Given the description of an element on the screen output the (x, y) to click on. 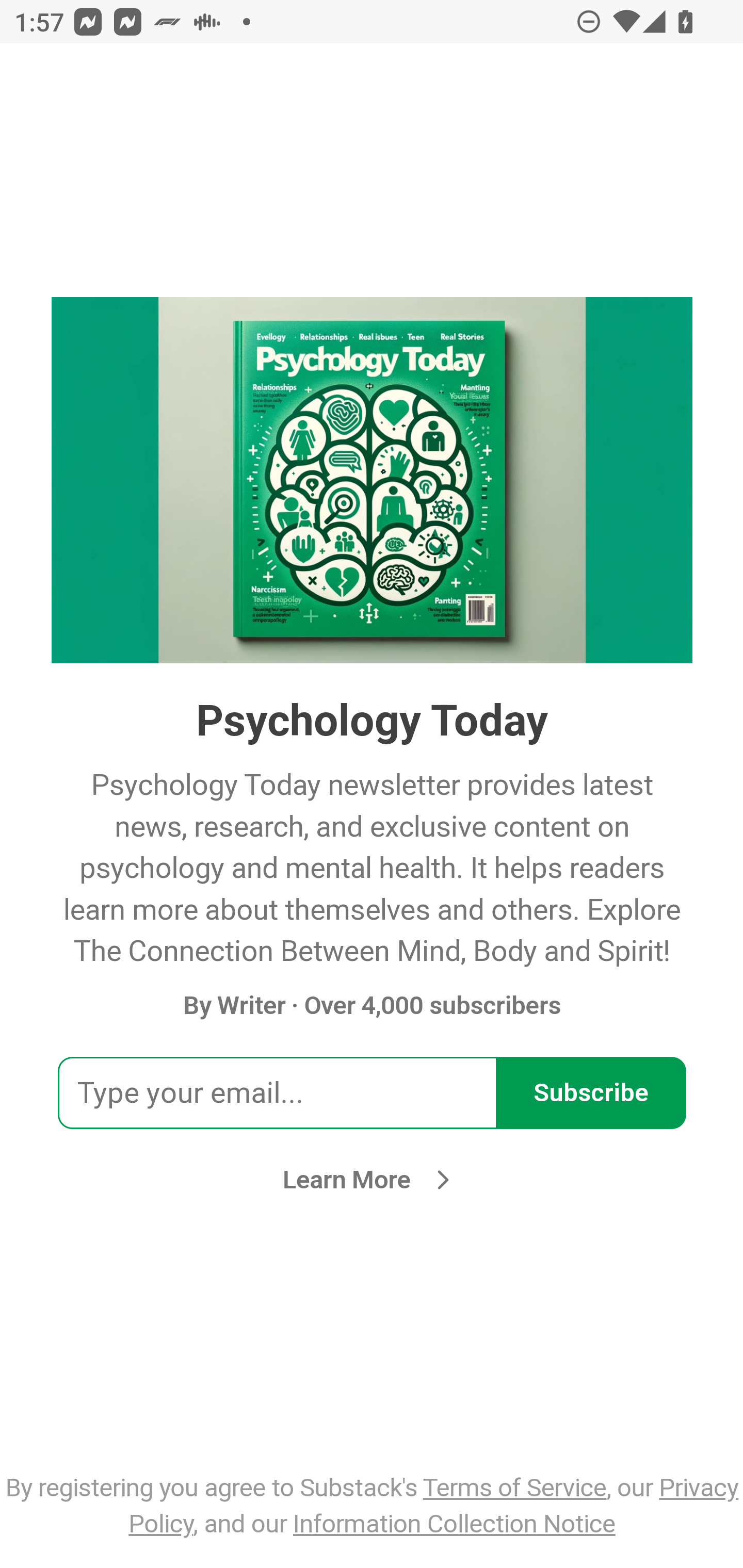
Subscribe (591, 1092)
Learn More (371, 1179)
Privacy Policy (433, 1504)
Terms of Service (514, 1486)
Information Collection Notice (453, 1522)
